Given the description of an element on the screen output the (x, y) to click on. 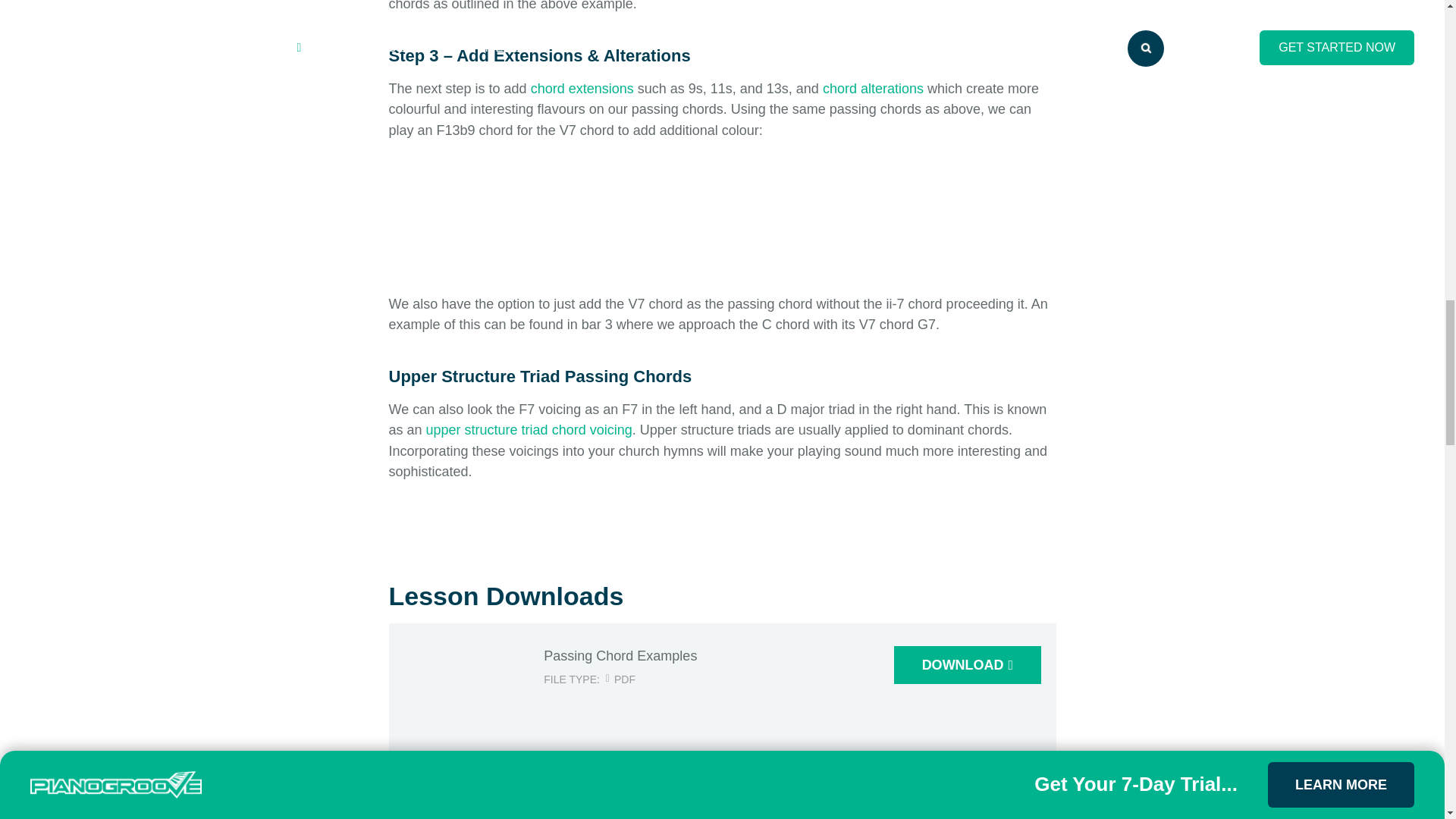
chord alterations (872, 88)
chord extensions (582, 88)
DOWNLOAD (967, 664)
DOWNLOAD (967, 817)
upper structure triad chord voicing (528, 429)
